Given the description of an element on the screen output the (x, y) to click on. 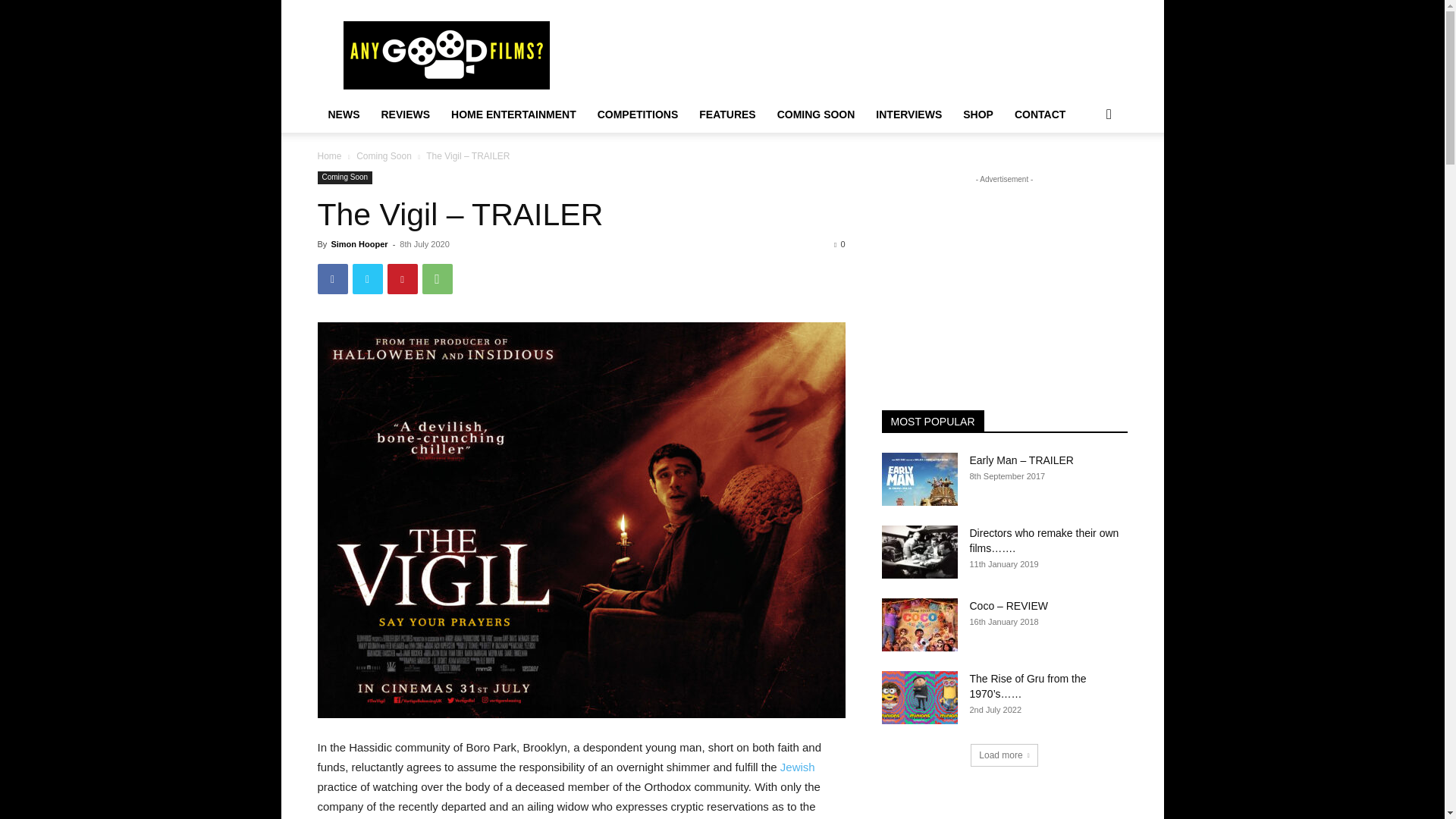
View all posts in Coming Soon (384, 155)
0 (839, 243)
HOME ENTERTAINMENT (513, 114)
Coming Soon (384, 155)
FEATURES (726, 114)
Coming Soon (344, 177)
COMING SOON (816, 114)
Home (328, 155)
Search (1085, 174)
Simon Hooper (358, 243)
Twitter (366, 278)
Pinterest (401, 278)
NEWS (343, 114)
CONTACT (1039, 114)
